Given the description of an element on the screen output the (x, y) to click on. 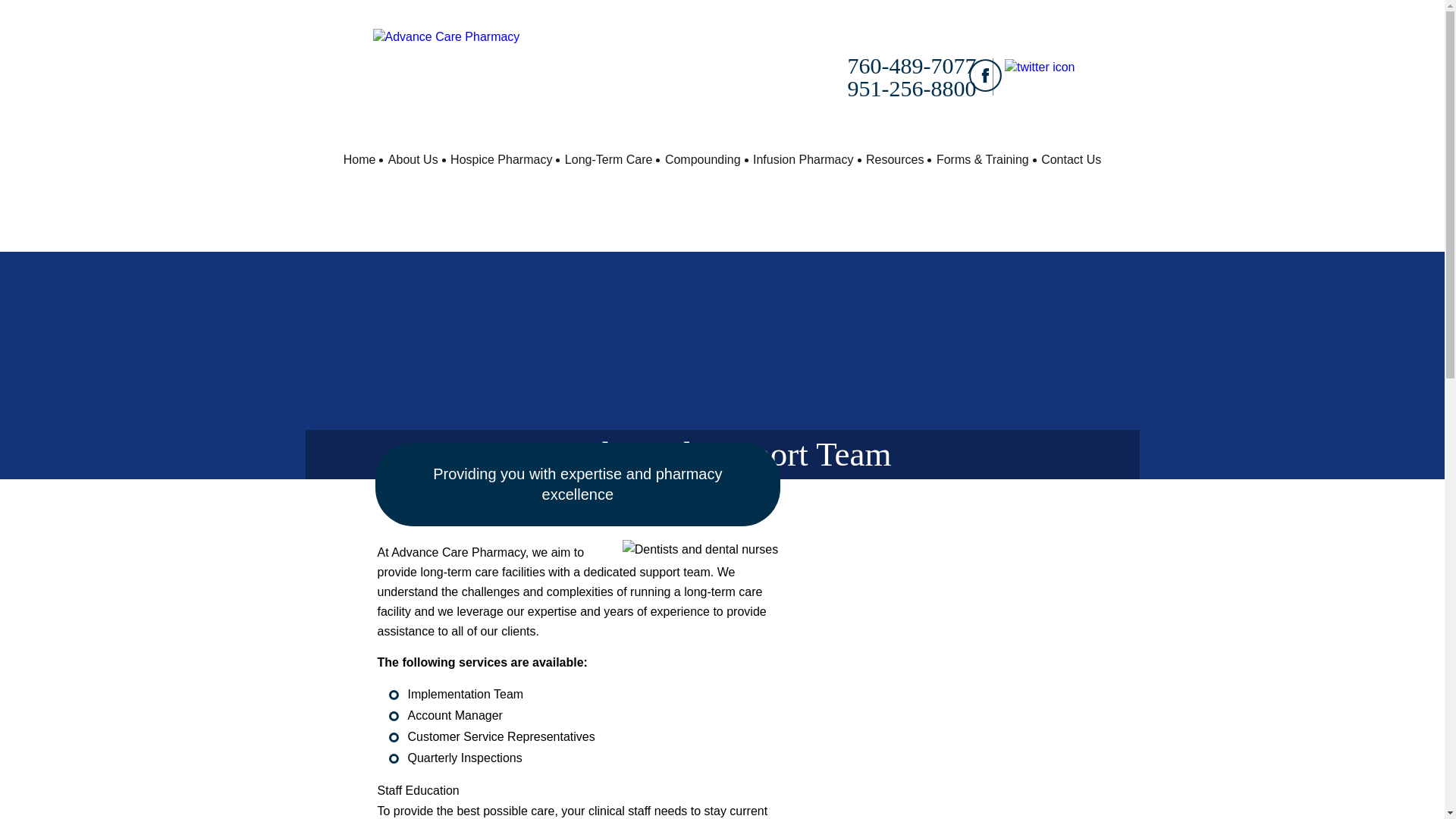
Compounding (703, 159)
About Us (413, 159)
Hospice Pharmacy (500, 159)
Resources (894, 159)
Contact Us (1070, 159)
Home (359, 159)
Long-Term Care (609, 159)
Infusion Pharmacy (803, 159)
